Given the description of an element on the screen output the (x, y) to click on. 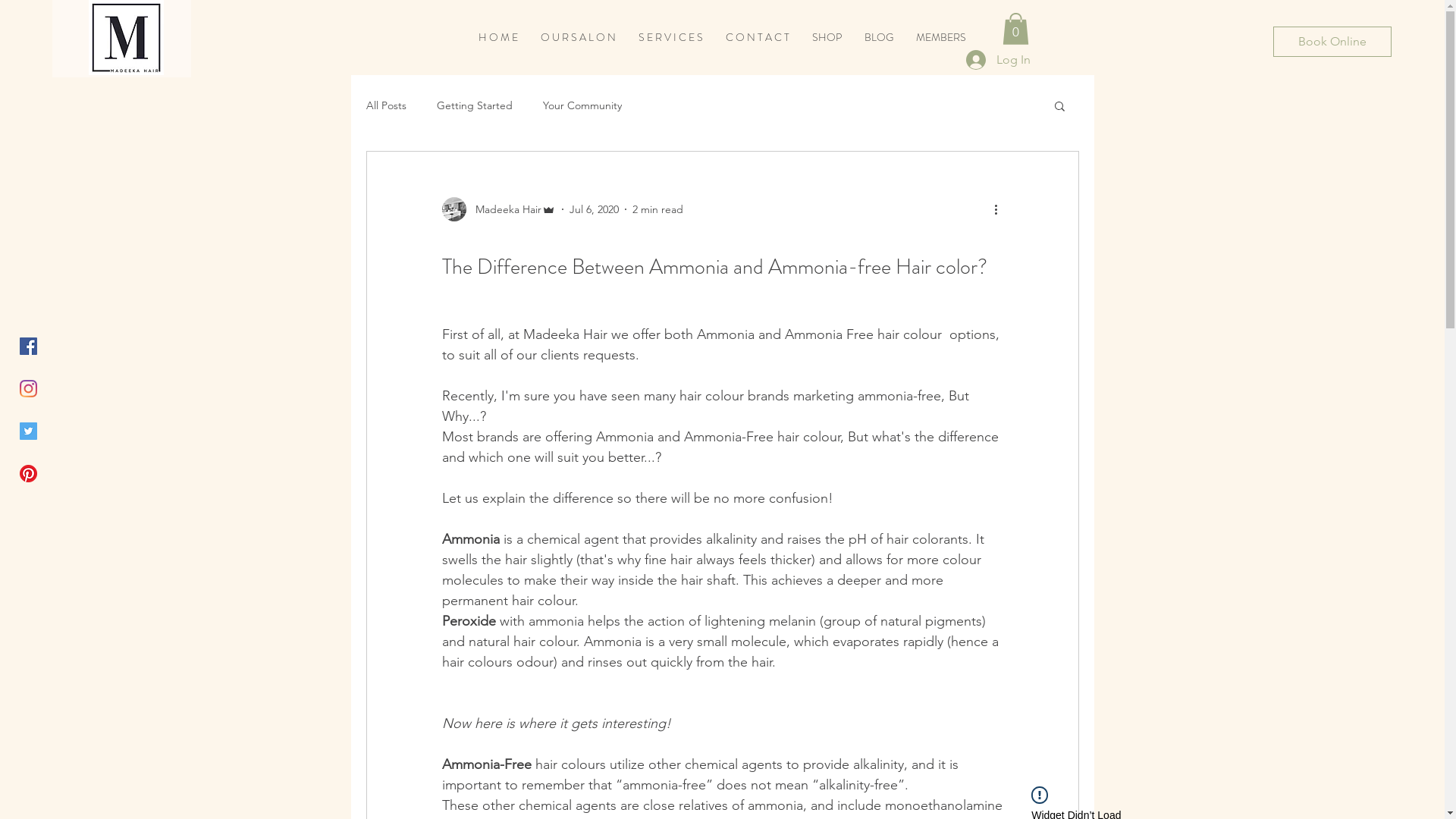
0 Element type: text (1015, 28)
SHOP Element type: text (826, 37)
Book Online Element type: text (1332, 41)
All Posts Element type: text (385, 105)
MADEEKA HAIR_Full square black.jpg Element type: hover (125, 37)
Your Community Element type: text (581, 105)
H O M E Element type: text (498, 37)
O U R S A L O N Element type: text (578, 37)
S E R V I C E S Element type: text (670, 37)
Log In Element type: text (998, 59)
MEMBERS Element type: text (940, 37)
Getting Started Element type: text (474, 105)
Madeeka Hair Element type: text (498, 209)
BLOG Element type: text (878, 37)
C O N T A C T Element type: text (757, 37)
